Given the description of an element on the screen output the (x, y) to click on. 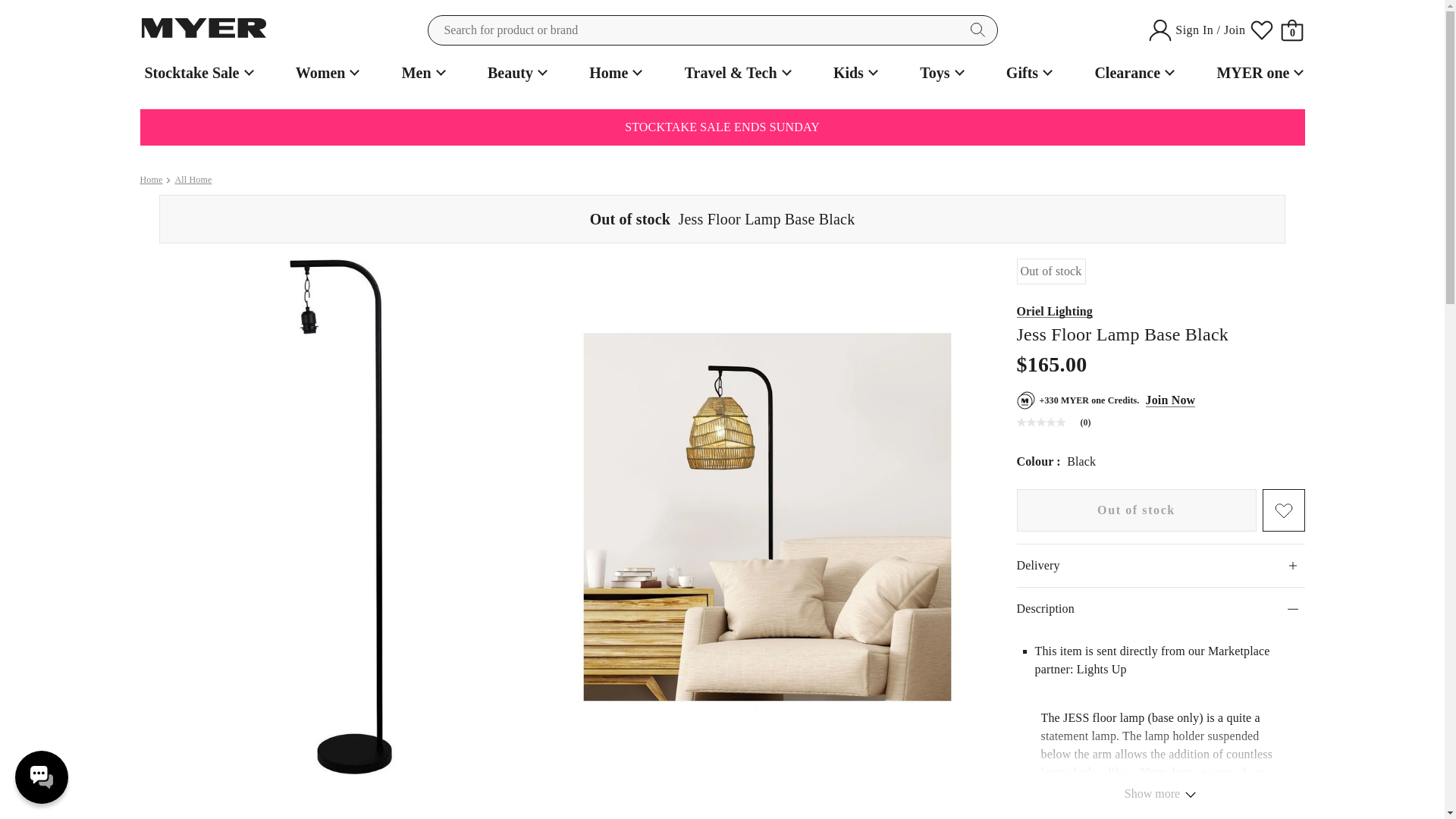
Click here to toggle the virtual assistant (41, 777)
Stocktake Sale (196, 72)
0 (1291, 30)
